Given the description of an element on the screen output the (x, y) to click on. 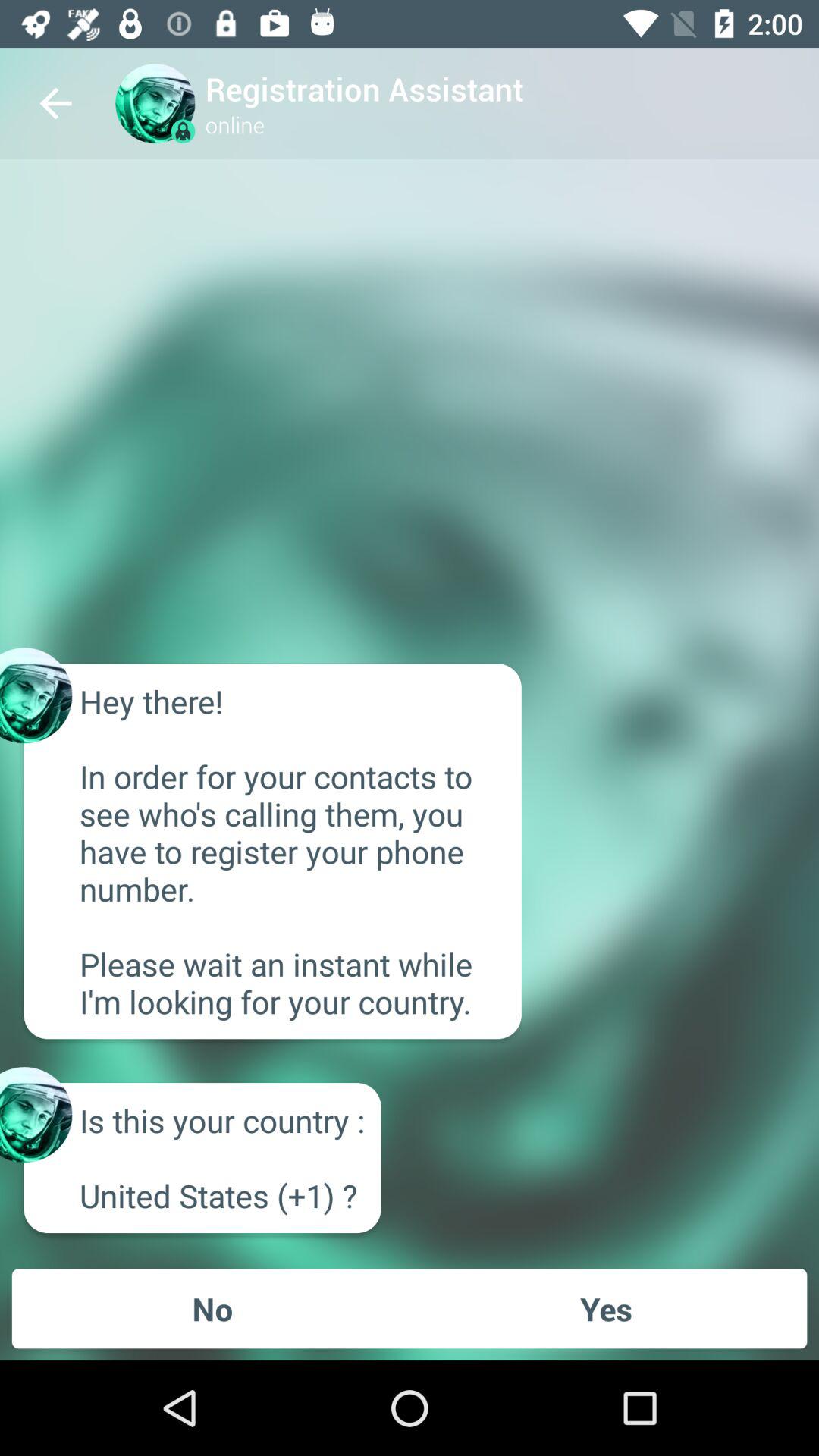
click the icon next to the yes (212, 1308)
